Given the description of an element on the screen output the (x, y) to click on. 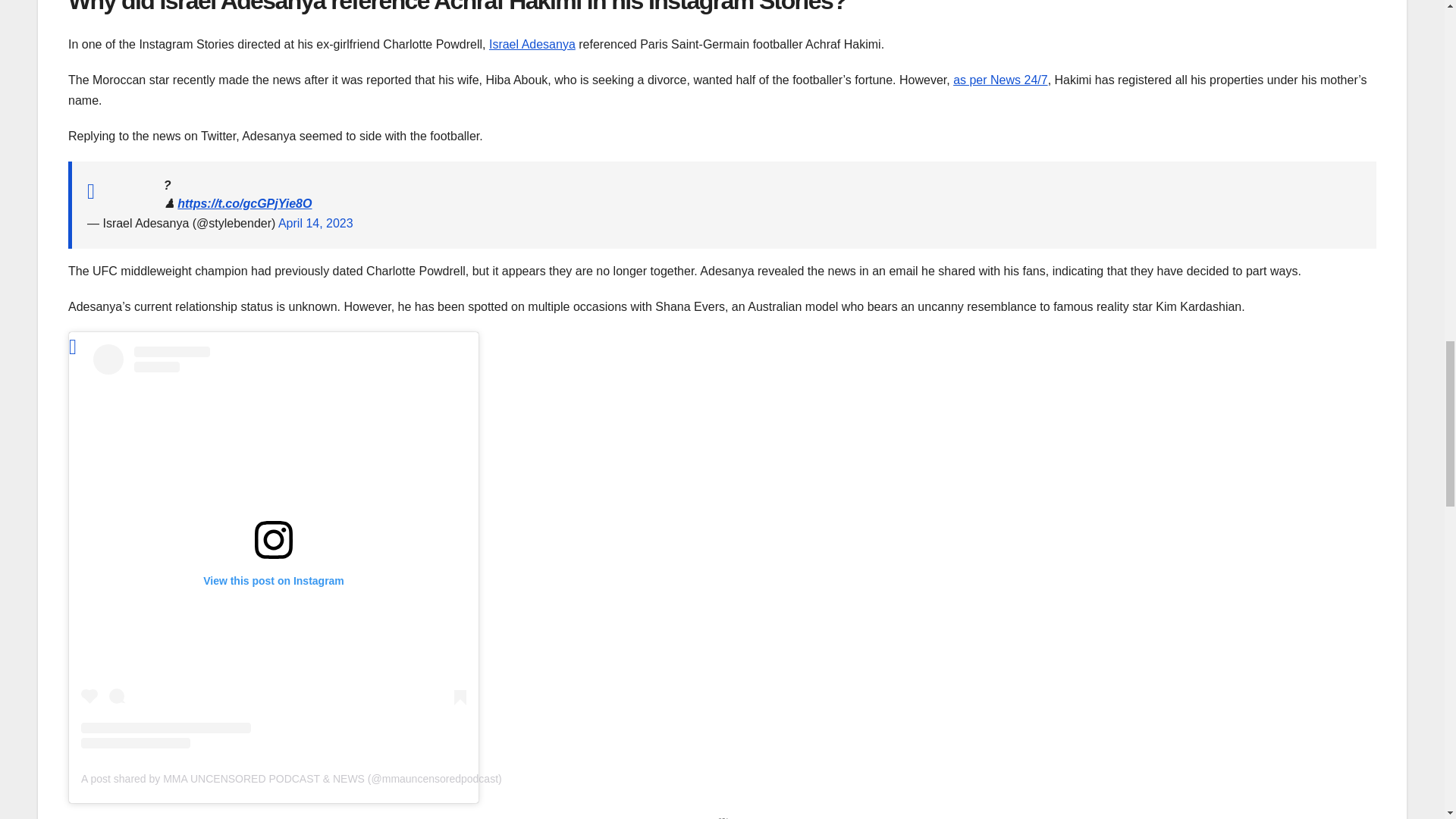
Israel Adesanya (532, 43)
April 14, 2023 (315, 223)
